Given the description of an element on the screen output the (x, y) to click on. 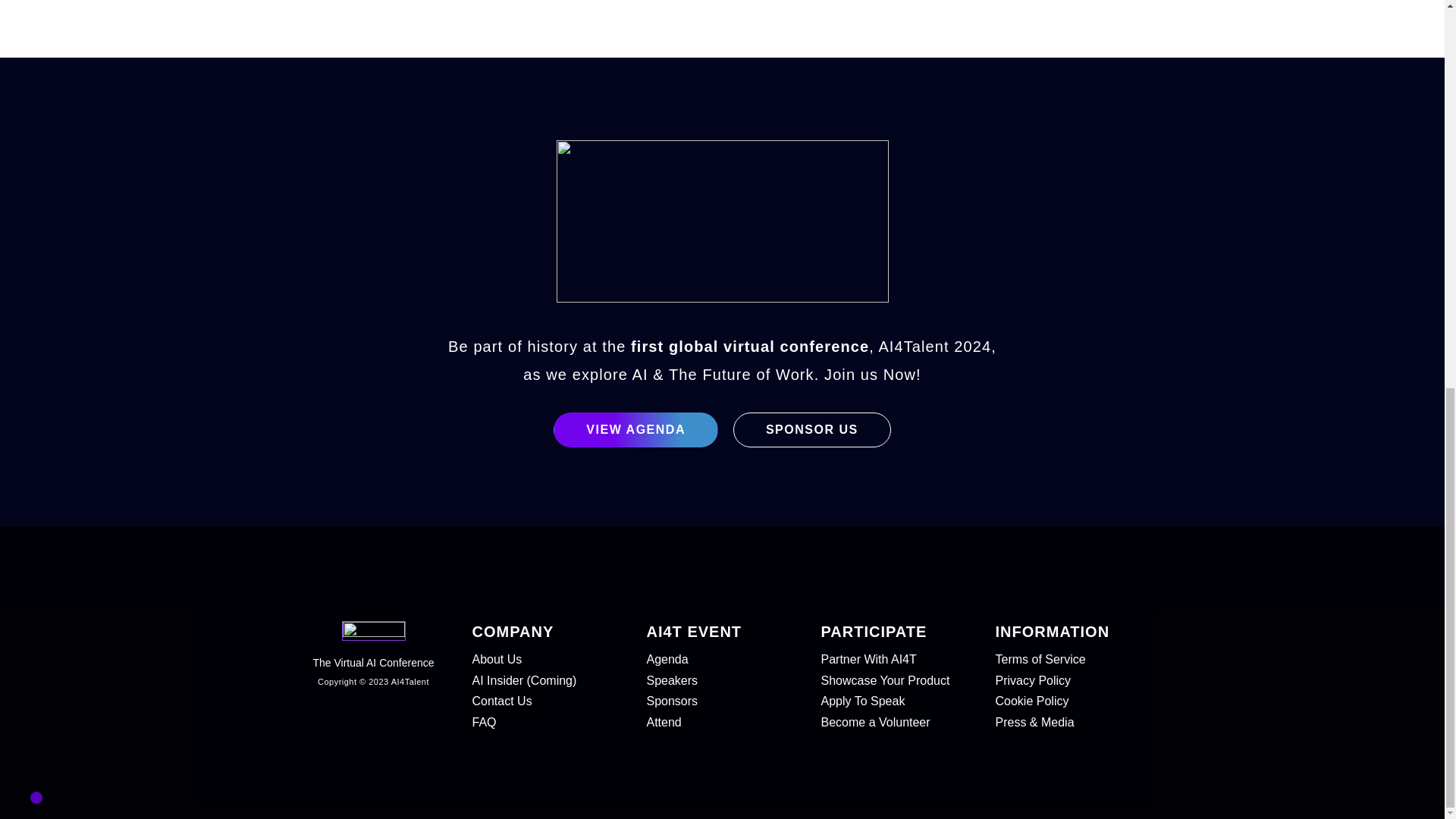
Speakers (721, 680)
Showcase Your Product (896, 680)
Become a Volunteer (896, 722)
SPONSOR US (812, 429)
About Us (547, 659)
Apply To Speak (896, 701)
Privacy Policy (1070, 680)
Terms of Service (1070, 659)
VIEW AGENDA (635, 429)
Sponsors (721, 701)
